Given the description of an element on the screen output the (x, y) to click on. 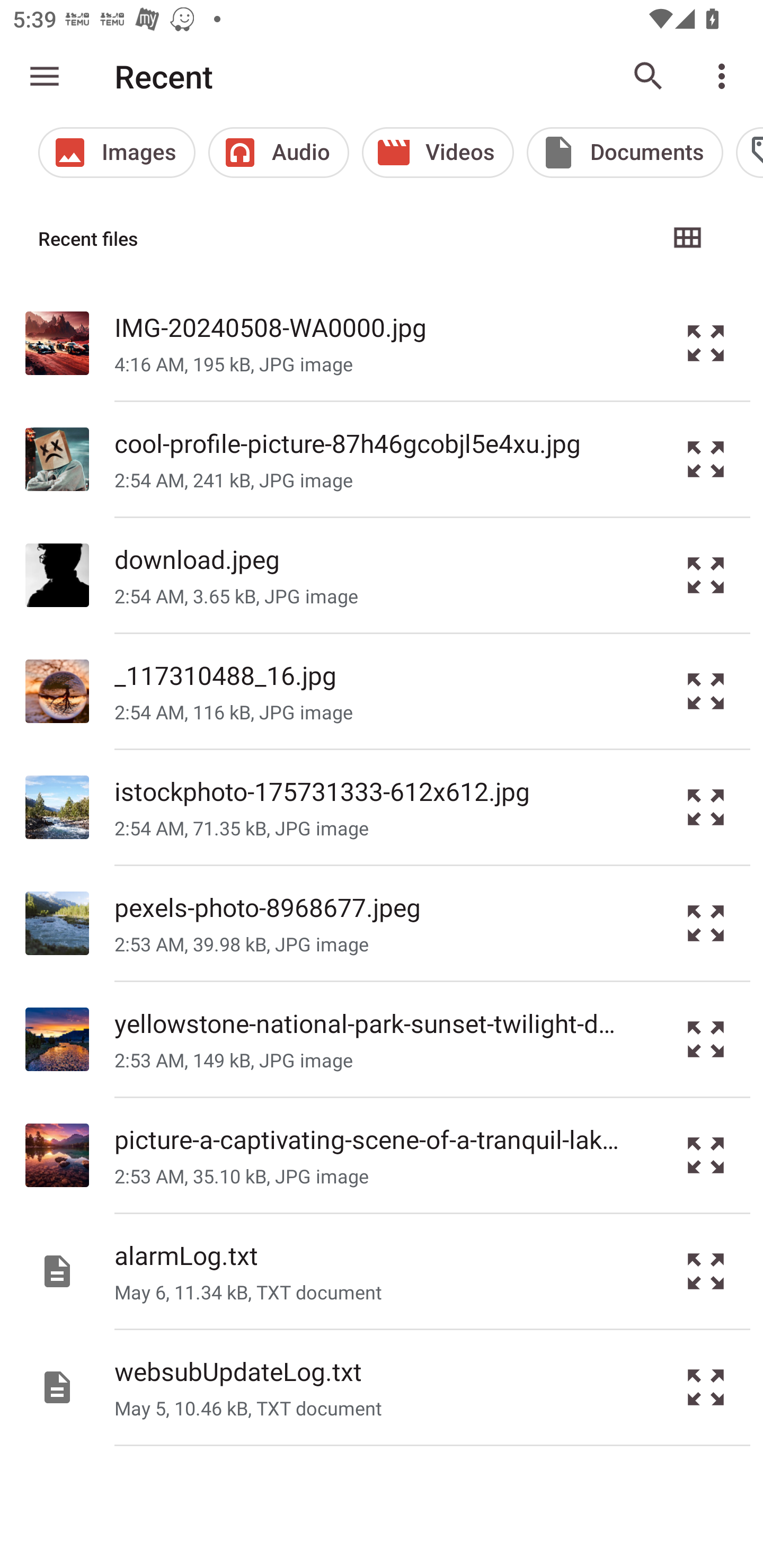
Show roots (44, 75)
Search (648, 75)
More options (724, 75)
Images (116, 152)
Audio (278, 152)
Videos (437, 152)
Documents (624, 152)
Grid view (686, 237)
Preview the file IMG-20240508-WA0000.jpg (705, 342)
Preview the file download.jpeg (705, 574)
Preview the file _117310488_16.jpg (705, 690)
Preview the file istockphoto-175731333-612x612.jpg (705, 806)
Preview the file pexels-photo-8968677.jpeg (705, 922)
Preview the file alarmLog.txt (705, 1270)
Preview the file websubUpdateLog.txt (705, 1386)
